Given the description of an element on the screen output the (x, y) to click on. 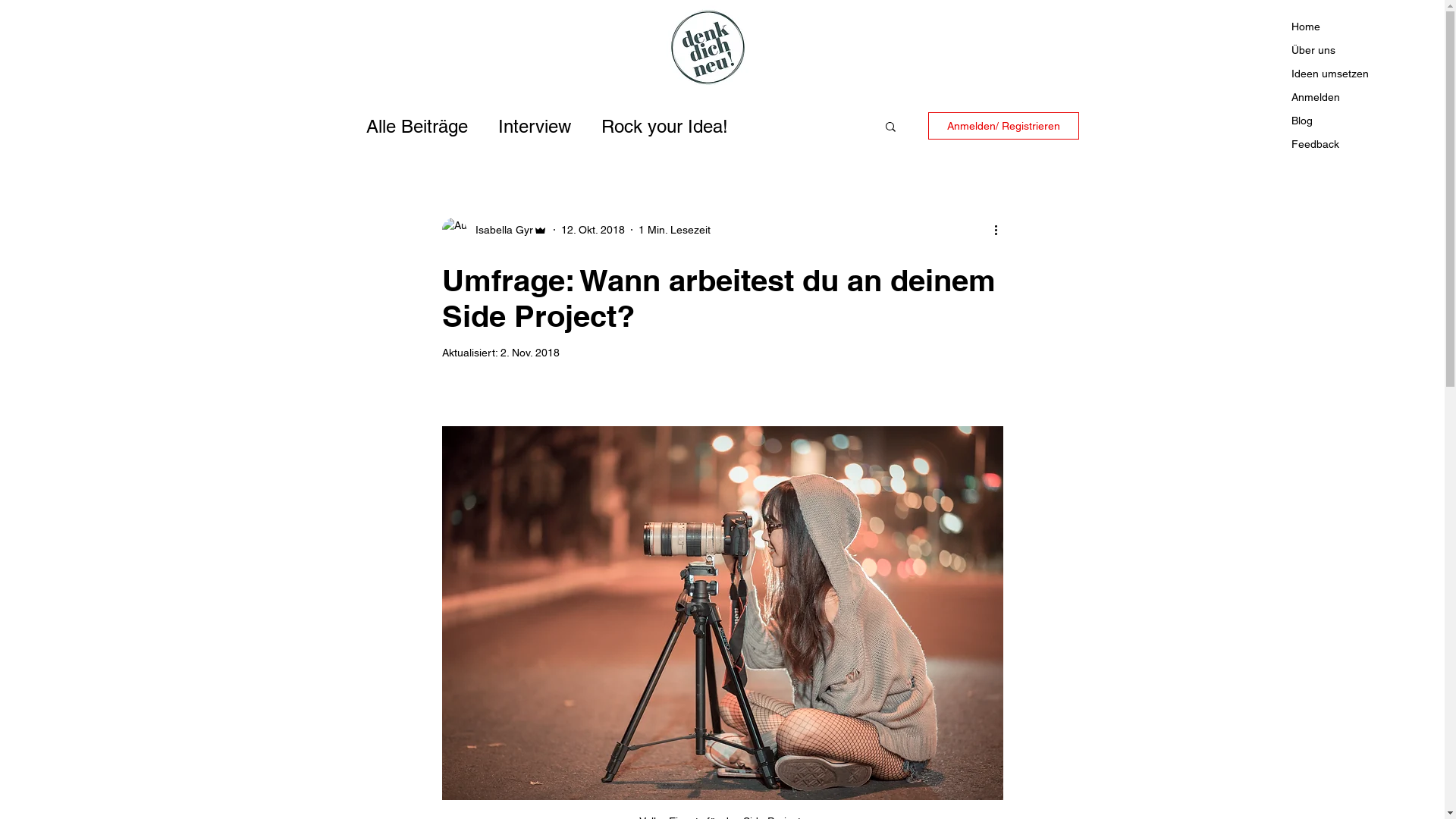
Rock your Idea! Element type: text (663, 125)
Feedback Element type: text (1360, 144)
Ideen umsetzen Element type: text (1360, 73)
Blog Element type: text (1360, 120)
Home Element type: text (1360, 26)
Anmelden/ Registrieren Element type: text (1003, 125)
Interview Element type: text (533, 125)
Anmelden Element type: text (1360, 97)
